Given the description of an element on the screen output the (x, y) to click on. 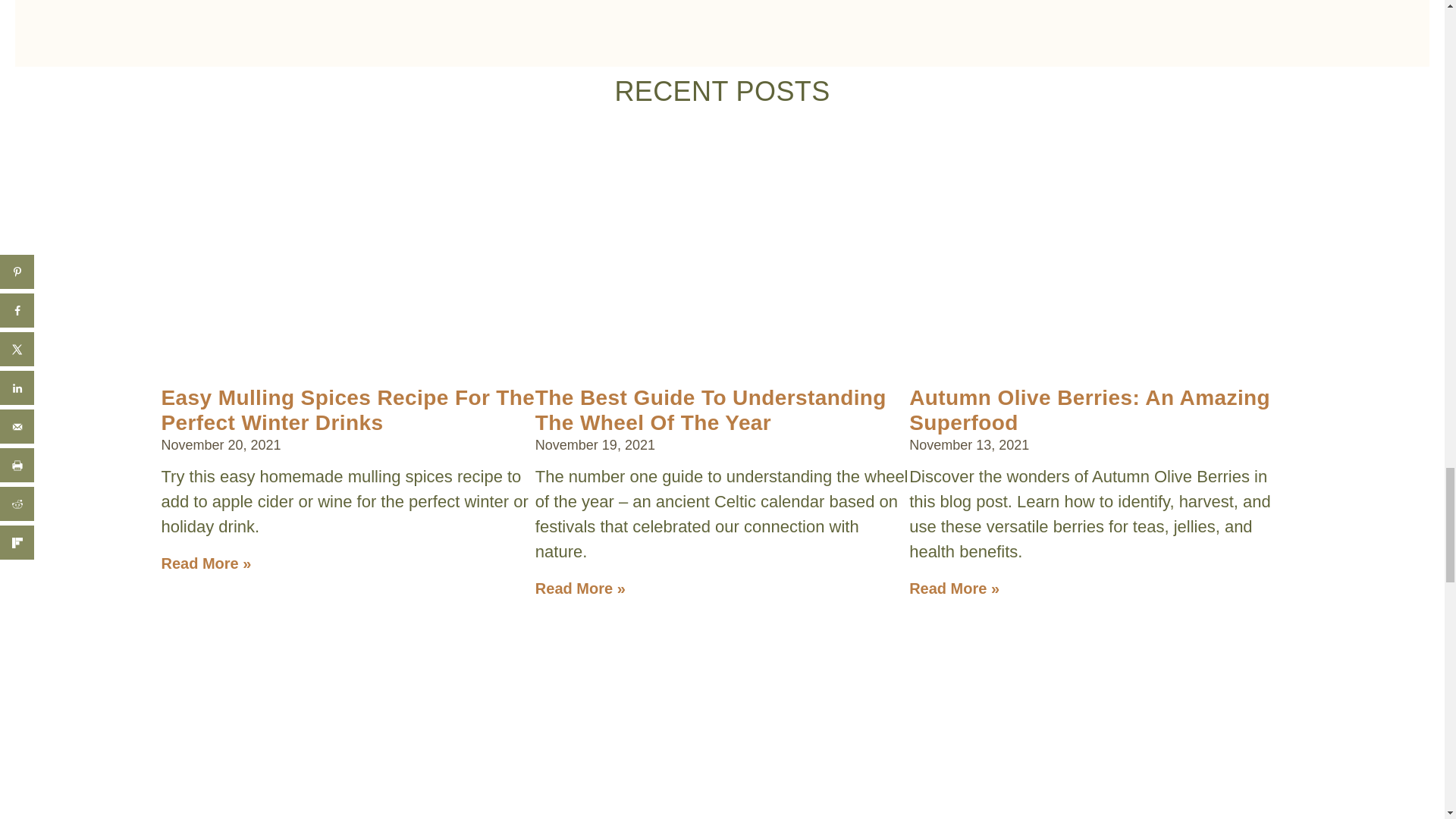
The Outdoor Apothecary (345, 678)
The Outdoor Apothecary (718, 678)
The Outdoor Apothecary (1092, 678)
